Given the description of an element on the screen output the (x, y) to click on. 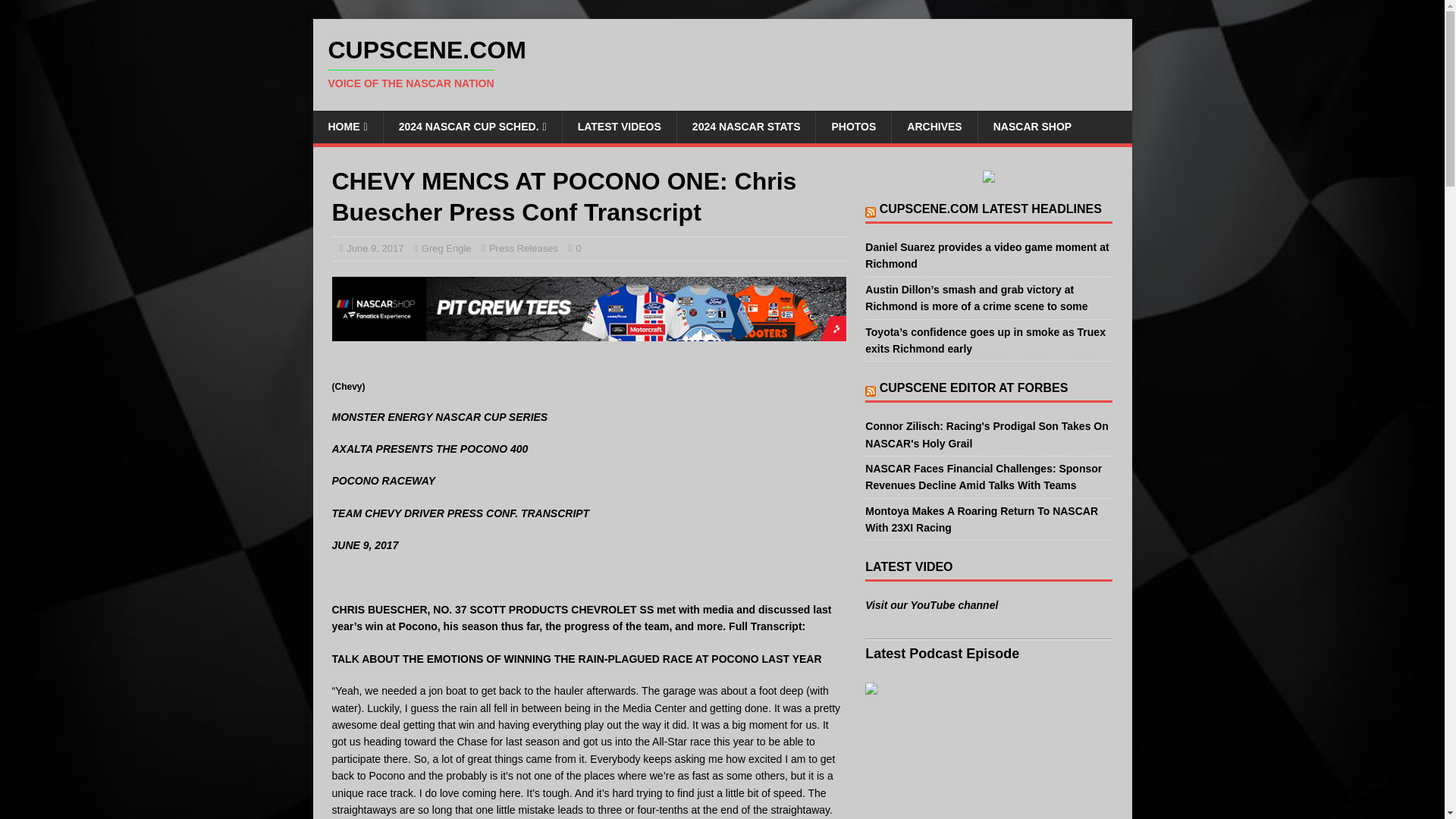
Press Releases (523, 247)
June 9, 2017 (374, 247)
PHOTOS (853, 126)
HOME (347, 126)
2024 NASCAR STATS (746, 126)
CupScene.com (721, 63)
ARCHIVES (933, 126)
2024 NASCAR CUP SCHED. (472, 126)
LATEST VIDEOS (619, 126)
Greg Engle (446, 247)
